Given the description of an element on the screen output the (x, y) to click on. 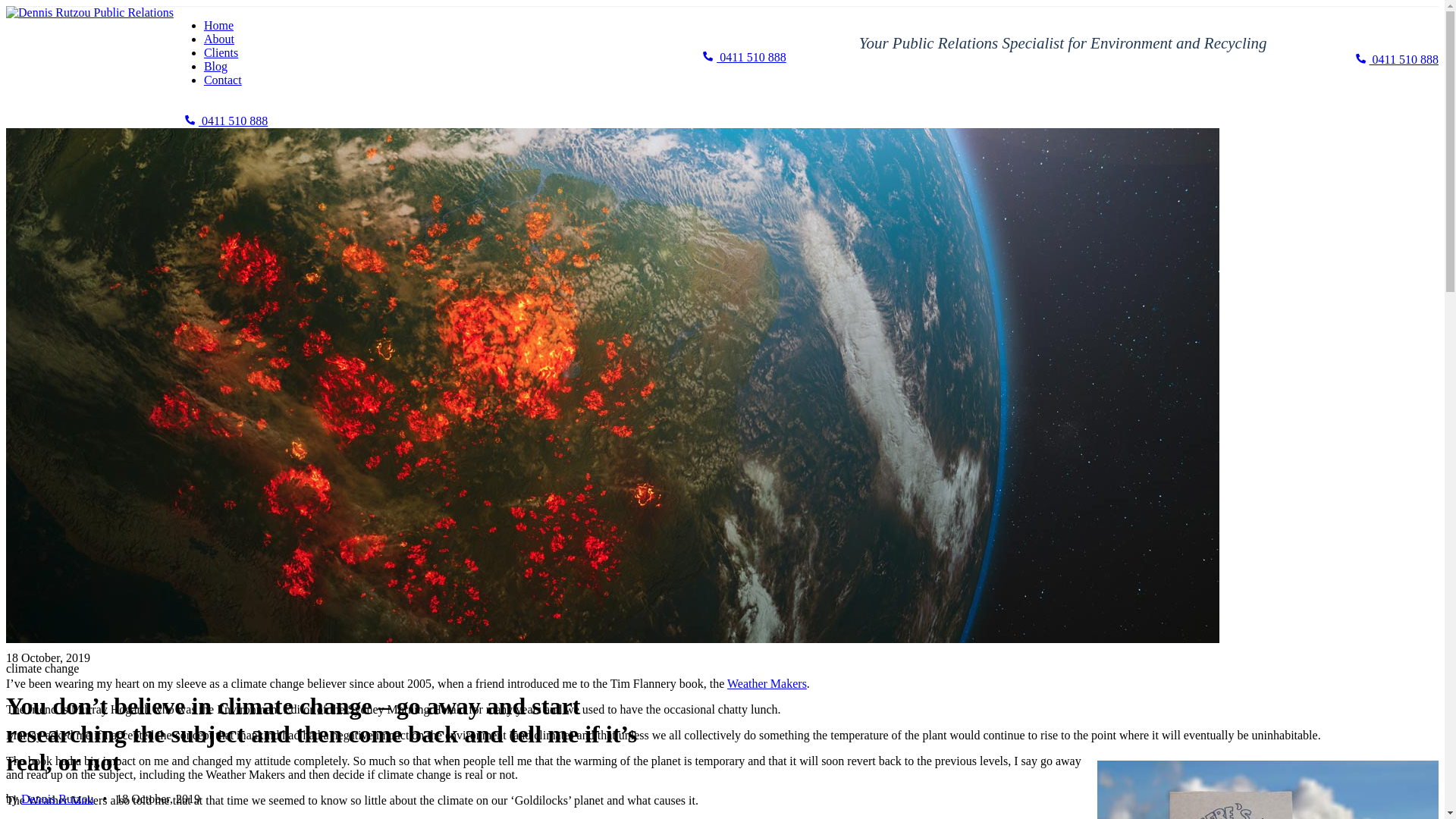
Blog Element type: text (215, 65)
0411 510 888 Element type: text (220, 120)
 0411 510 888 Element type: text (1391, 58)
About Element type: text (218, 38)
Home Element type: text (218, 24)
Contact Element type: text (222, 79)
Dennis Rutzou Element type: text (57, 798)
Clients Element type: text (220, 52)
Weather Makers Element type: text (766, 683)
0411 510 888 Element type: text (744, 56)
